Given the description of an element on the screen output the (x, y) to click on. 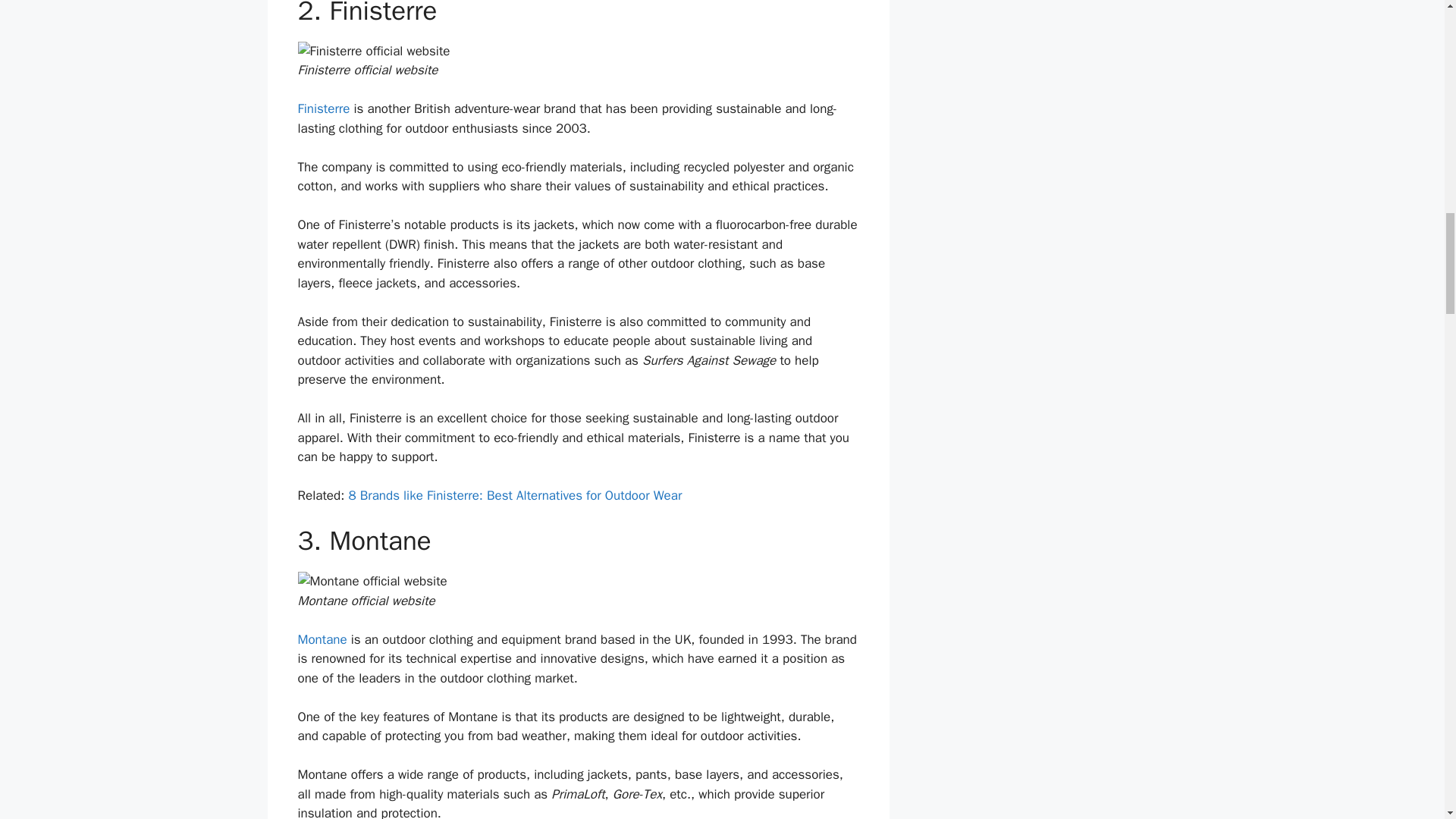
Montane (321, 639)
Finisterre (323, 108)
8 Brands like Finisterre: Best Alternatives for Outdoor Wear (514, 495)
